Given the description of an element on the screen output the (x, y) to click on. 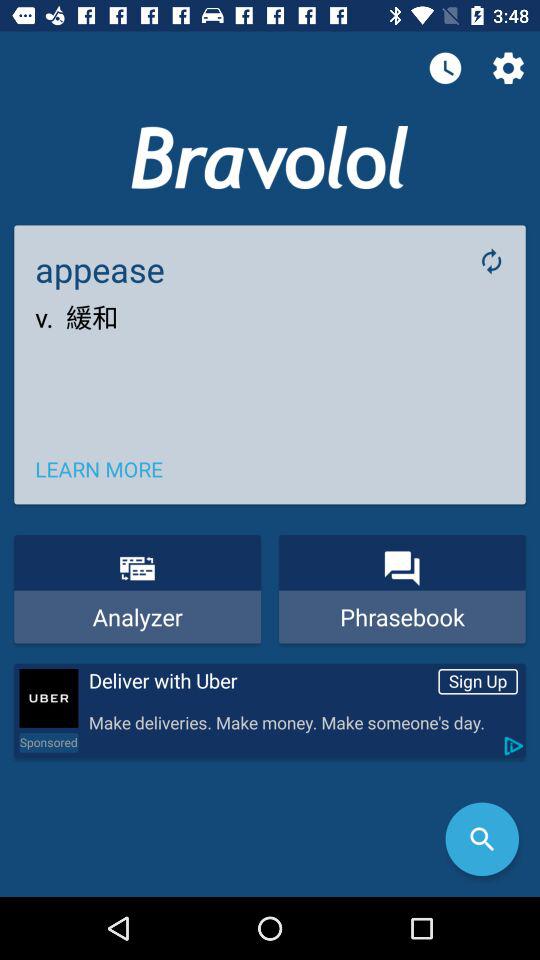
launch the item below deliver with uber (301, 723)
